Given the description of an element on the screen output the (x, y) to click on. 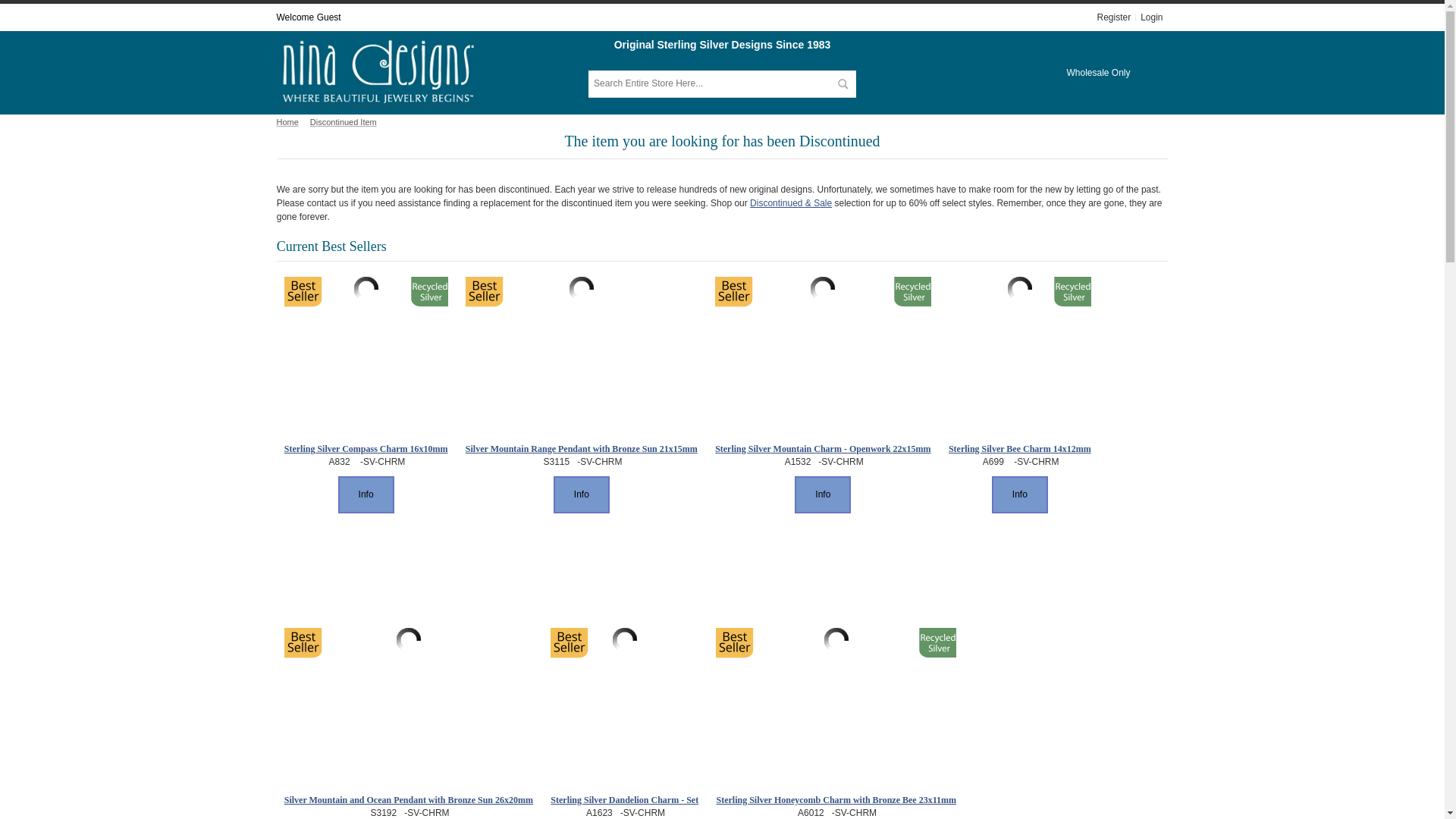
Login (1151, 17)
Login (1151, 17)
Sterling Silver Compass Charm 16x10mm (365, 448)
Silver Mountain Range Pendant with Bronze Sun 21x15mm (581, 448)
Search (842, 83)
Sterling Silver Mountain Charm - Openwork 22x15mm (822, 448)
Silver Mountain Range Pendant with Bronze Sun 21x15mm (581, 288)
Sterling Silver Compass Charm 16x10mm (365, 288)
Silver Mountain and Ocean Pendant with Bronze Sun 26x20mm (407, 639)
Sterling Silver Bee Charm 14x12mm (1019, 448)
